Given the description of an element on the screen output the (x, y) to click on. 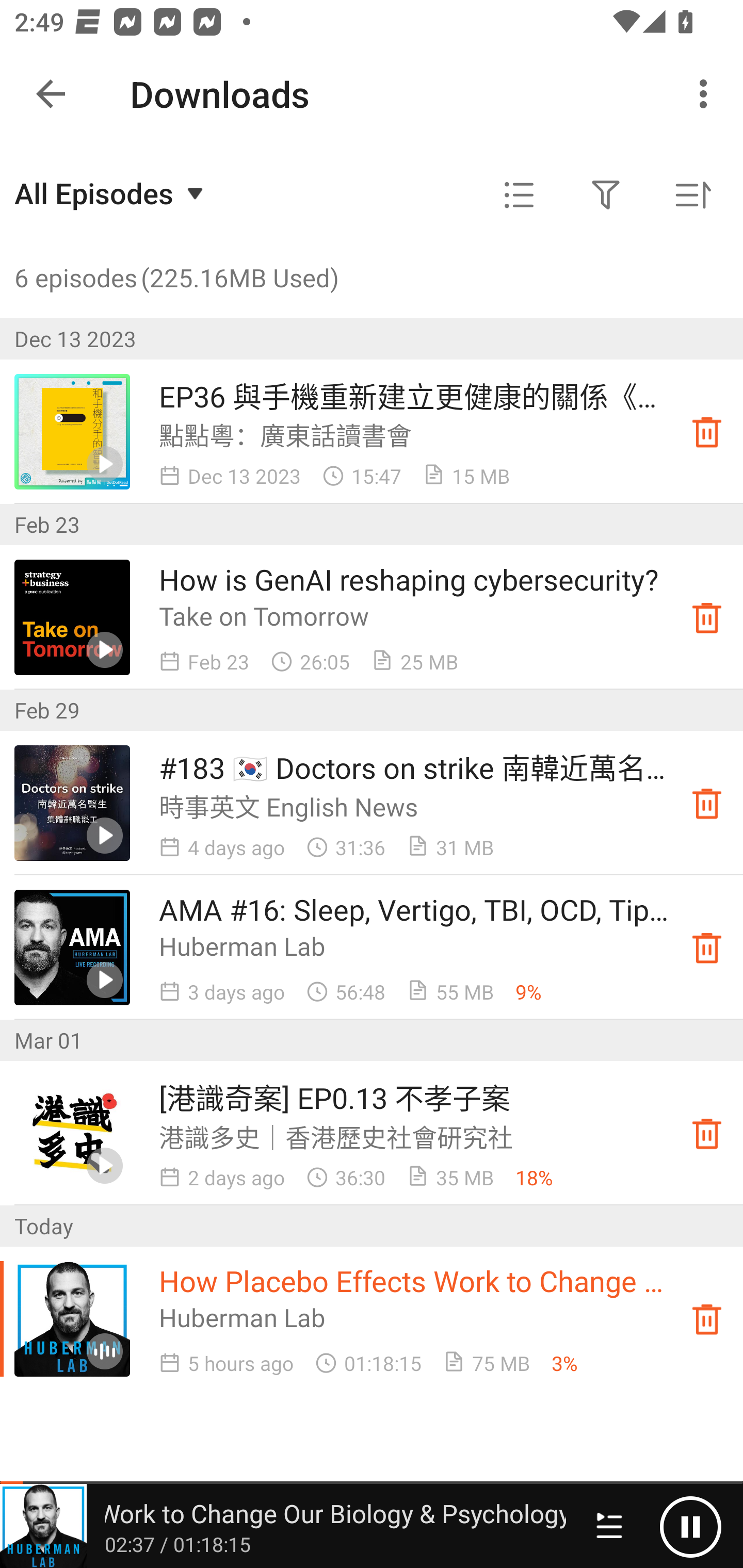
Navigate up (50, 93)
More options (706, 93)
All Episodes (111, 192)
 (518, 195)
 (605, 195)
 Sorted by oldest first (692, 195)
Downloaded (706, 431)
Downloaded (706, 617)
Downloaded (706, 802)
Downloaded (706, 947)
Downloaded (706, 1133)
Downloaded (706, 1318)
Pause (690, 1526)
